Given the description of an element on the screen output the (x, y) to click on. 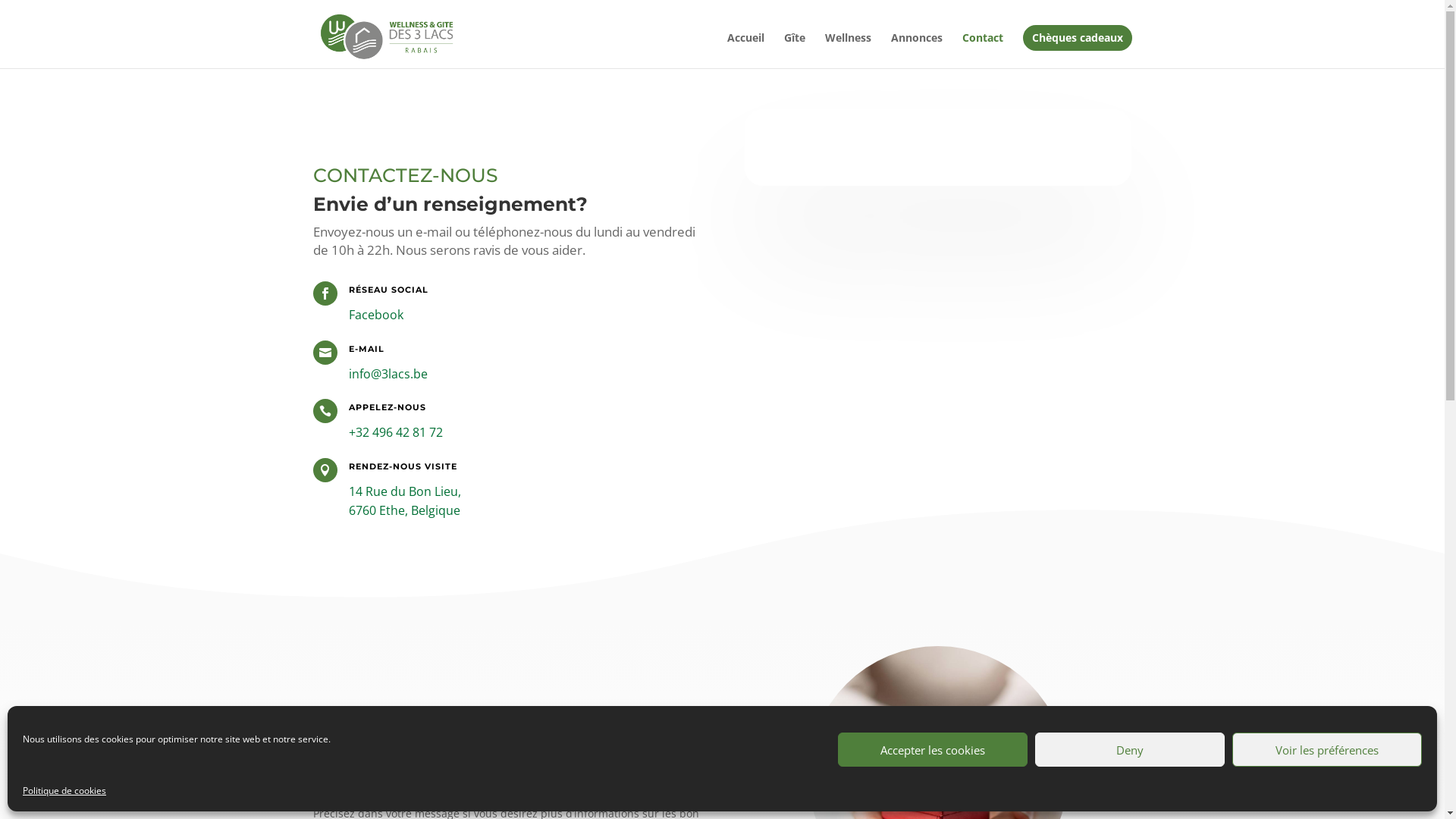
Facebook Element type: text (375, 314)
info@3lacs.be Element type: text (387, 373)
Wellness Element type: text (848, 50)
Accepter les cookies Element type: text (932, 749)
Deny Element type: text (1129, 749)
Accueil Element type: text (744, 50)
+32 496 42 81 72 Element type: text (395, 431)
Contact Element type: text (981, 50)
Annonces Element type: text (915, 50)
Politique de cookies Element type: text (64, 790)
14 Rue du Bon Lieu,
6760 Ethe, Belgique Element type: text (404, 501)
